Given the description of an element on the screen output the (x, y) to click on. 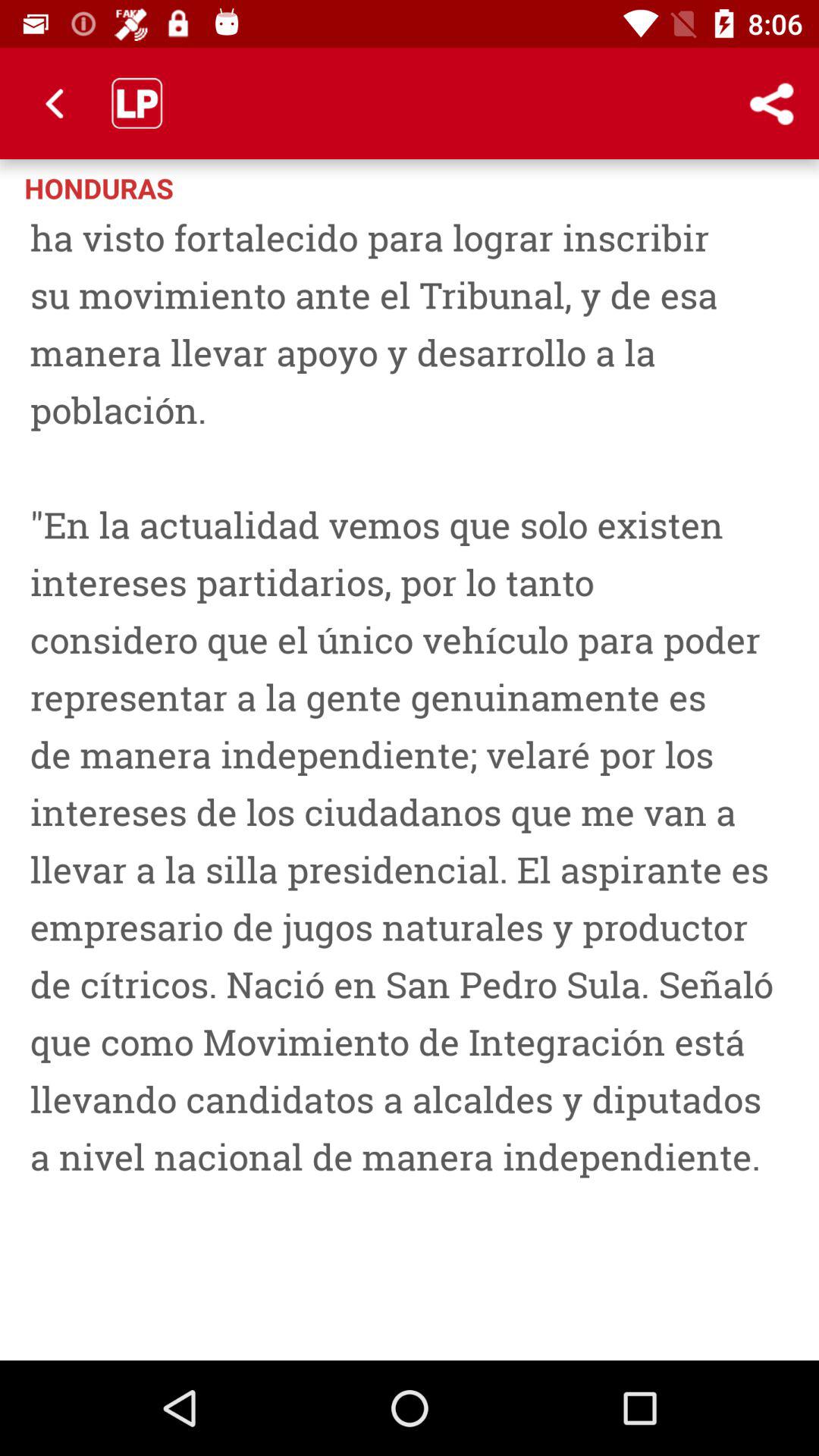
tap the item next to honduras item (709, 186)
